Given the description of an element on the screen output the (x, y) to click on. 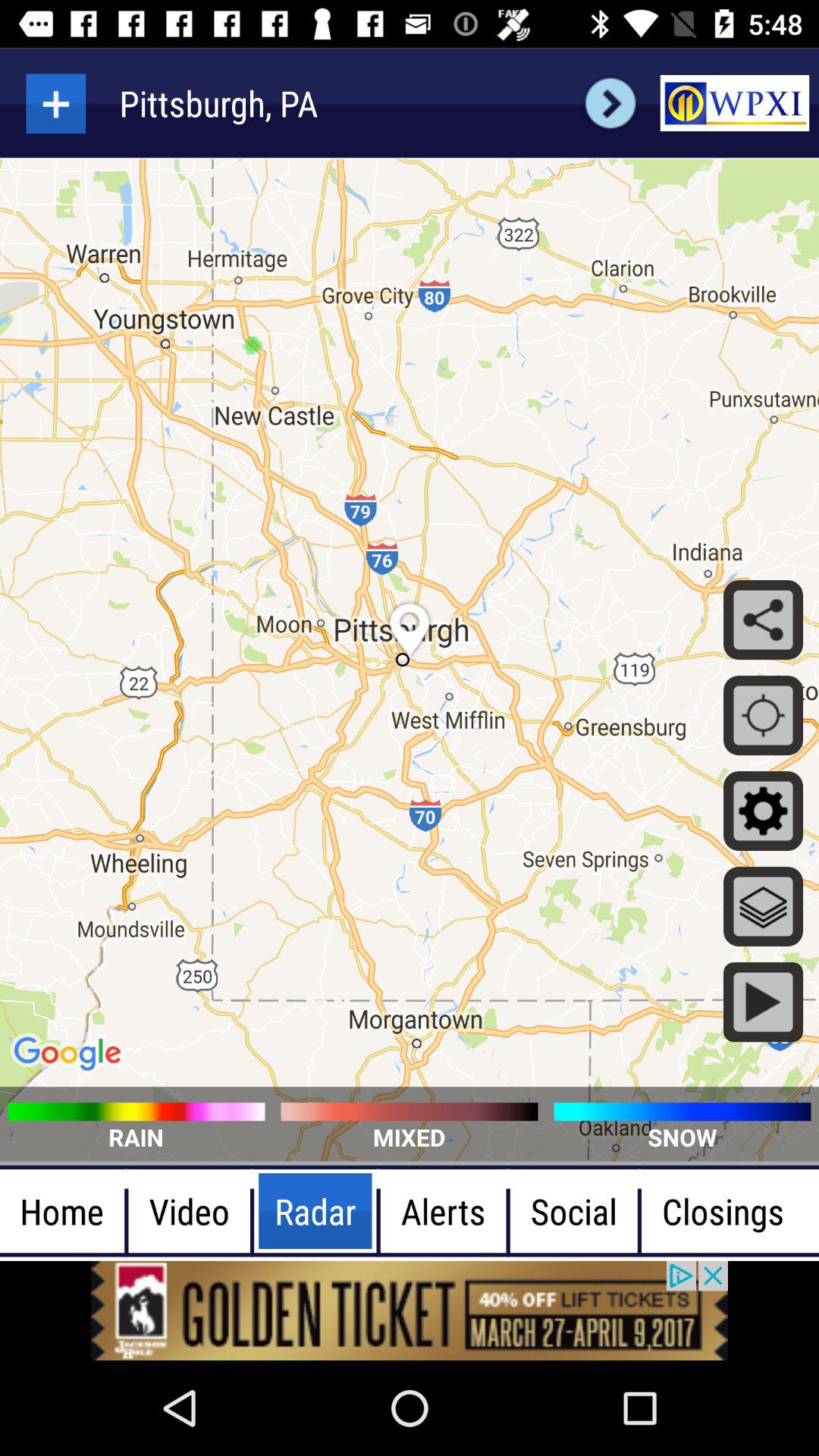
advertisement page (409, 1310)
